Given the description of an element on the screen output the (x, y) to click on. 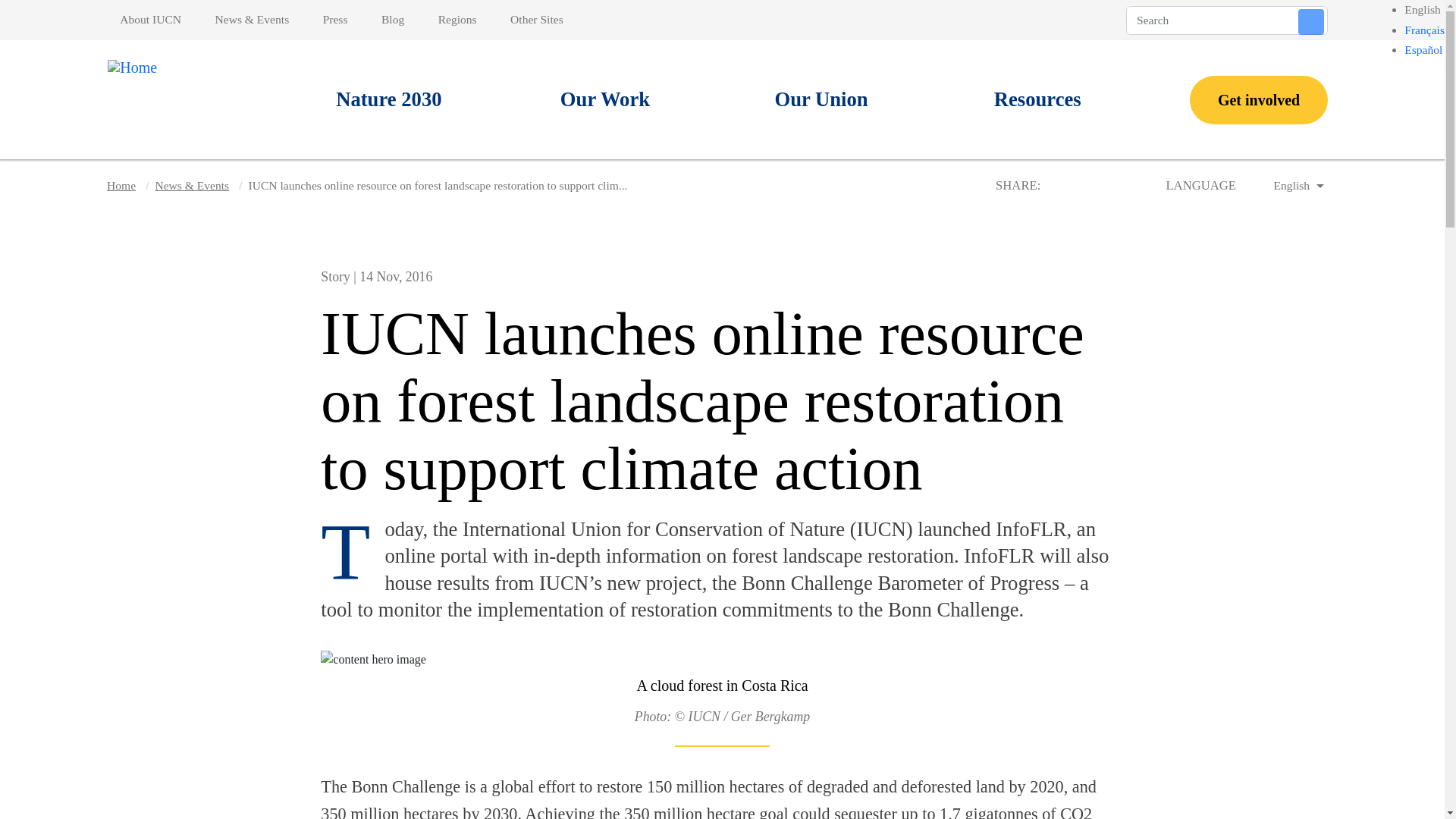
Press (334, 20)
Regions (456, 20)
Nature 2030 (389, 99)
Blog (393, 20)
Home (151, 99)
About IUCN (152, 20)
Other Sites (536, 20)
